Given the description of an element on the screen output the (x, y) to click on. 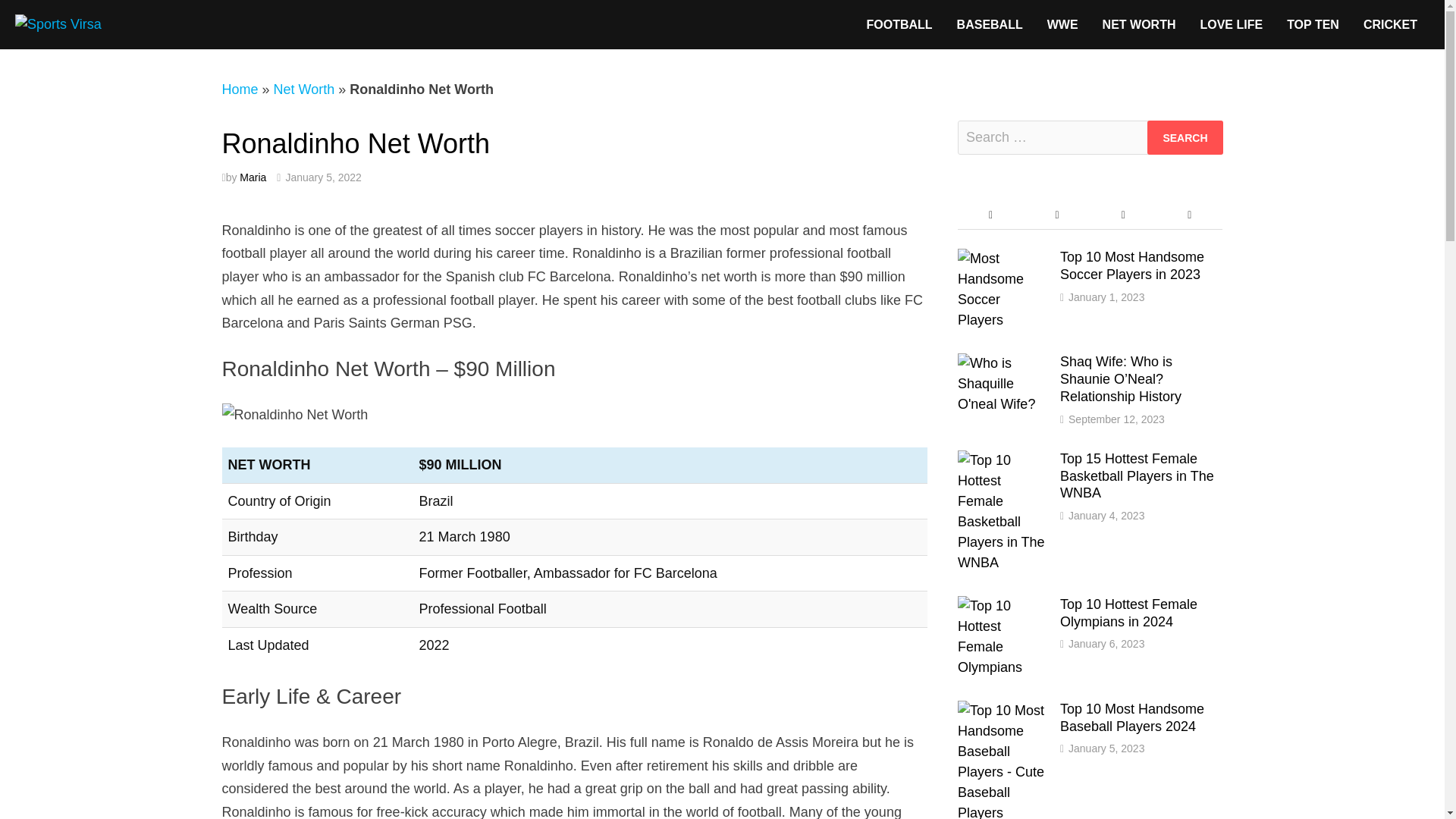
BASEBALL (989, 24)
Maria (253, 177)
WWE (1062, 24)
Search (1185, 137)
Net Worth (303, 89)
NET WORTH (1139, 24)
Home (239, 89)
TOP TEN (1313, 24)
January 5, 2022 (323, 177)
Top 10 Hottest Female Olympians in 2024 (1003, 605)
LOVE LIFE (1231, 24)
Search (1185, 137)
Top 15 Hottest Female Basketball Players in The WNBA (1003, 459)
Search (1185, 137)
FOOTBALL (898, 24)
